Given the description of an element on the screen output the (x, y) to click on. 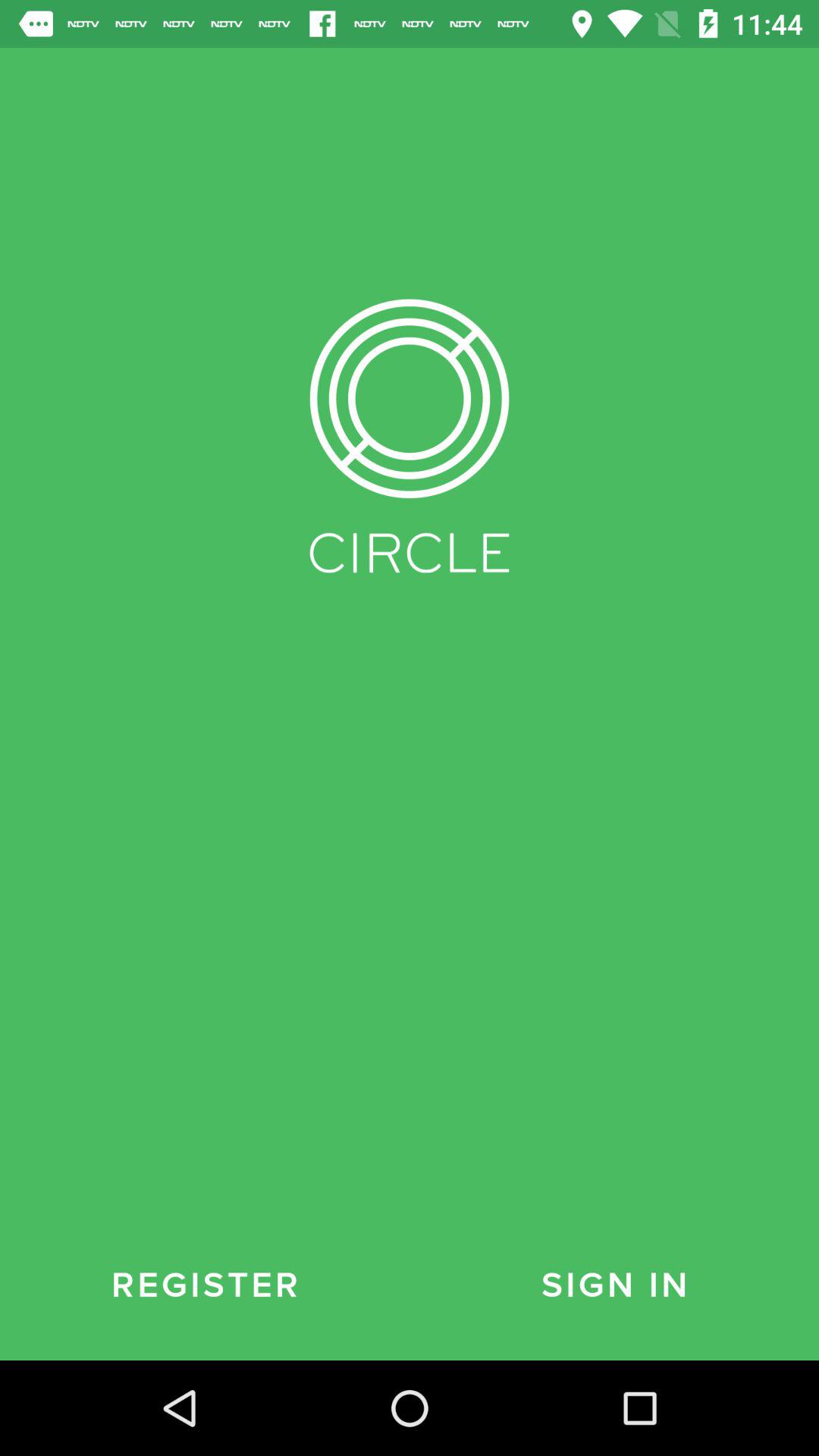
choose the item next to register (614, 1285)
